Given the description of an element on the screen output the (x, y) to click on. 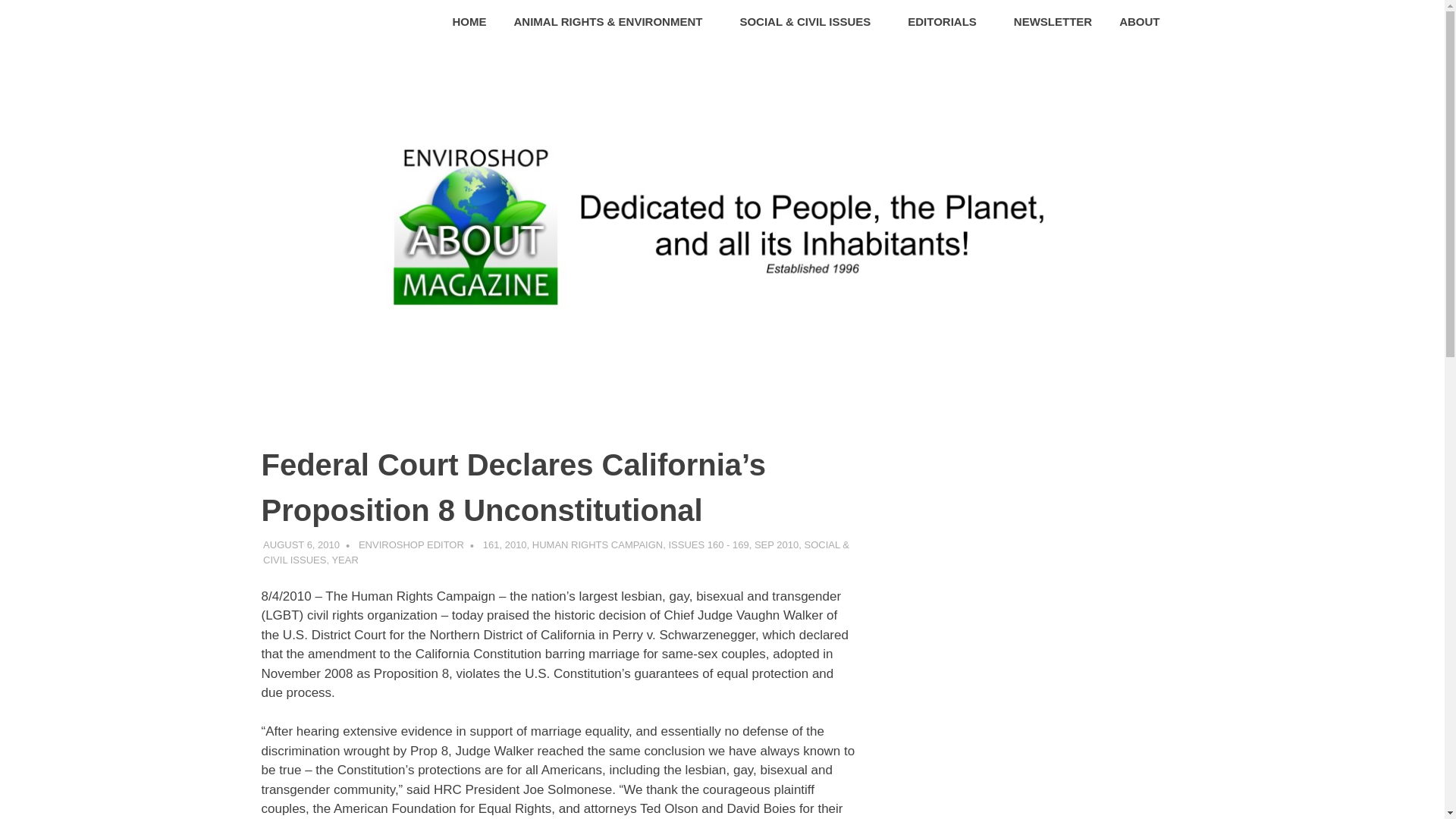
View all posts by Enviroshop Editor (411, 544)
2010 (516, 544)
ISSUES 160 - 169 (708, 544)
HUMAN RIGHTS CAMPAIGN (597, 544)
2:07 am (301, 544)
EDITORIALS (946, 22)
AUGUST 6, 2010 (301, 544)
HOME (469, 22)
ABOUT (1143, 22)
NEWSLETTER (1052, 22)
161 (491, 544)
ENVIROSHOP EDITOR (411, 544)
